Given the description of an element on the screen output the (x, y) to click on. 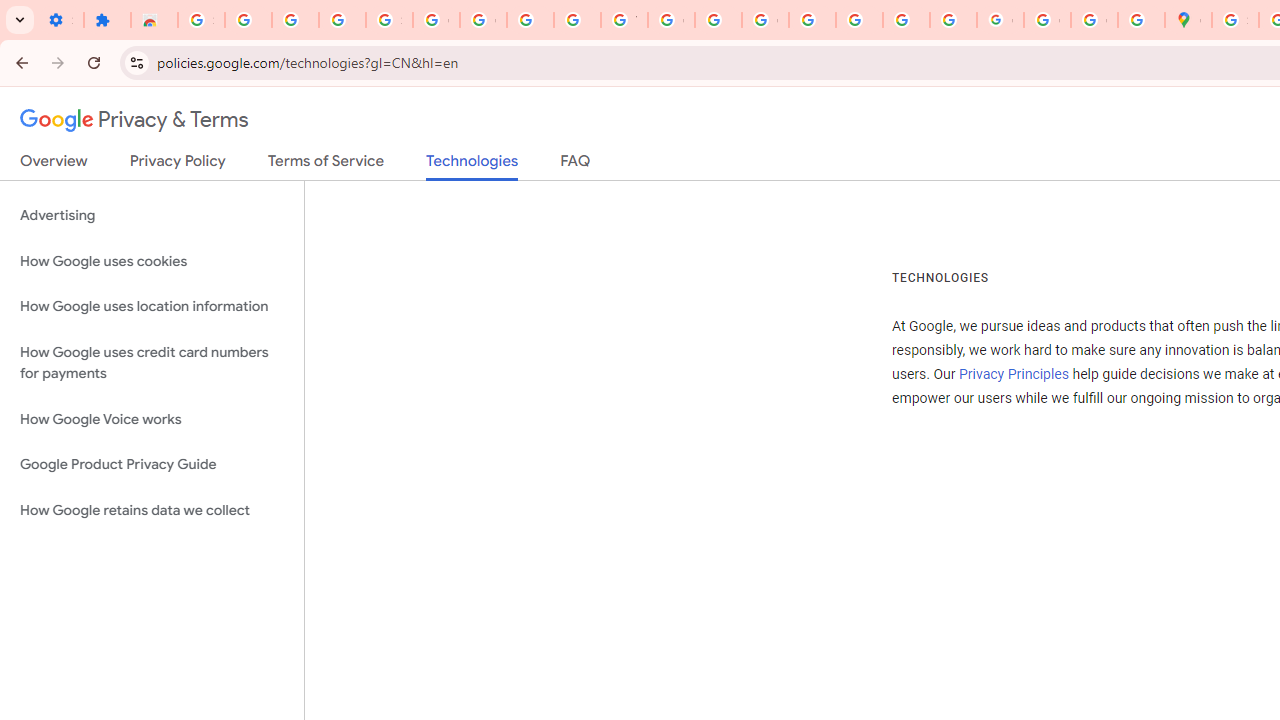
Extensions (107, 20)
Terms of Service (326, 165)
Google Account Help (436, 20)
How Google uses cookies (152, 261)
Technologies (472, 166)
Back (19, 62)
Search tabs (20, 20)
View site information (136, 62)
Sign in - Google Accounts (1235, 20)
